Given the description of an element on the screen output the (x, y) to click on. 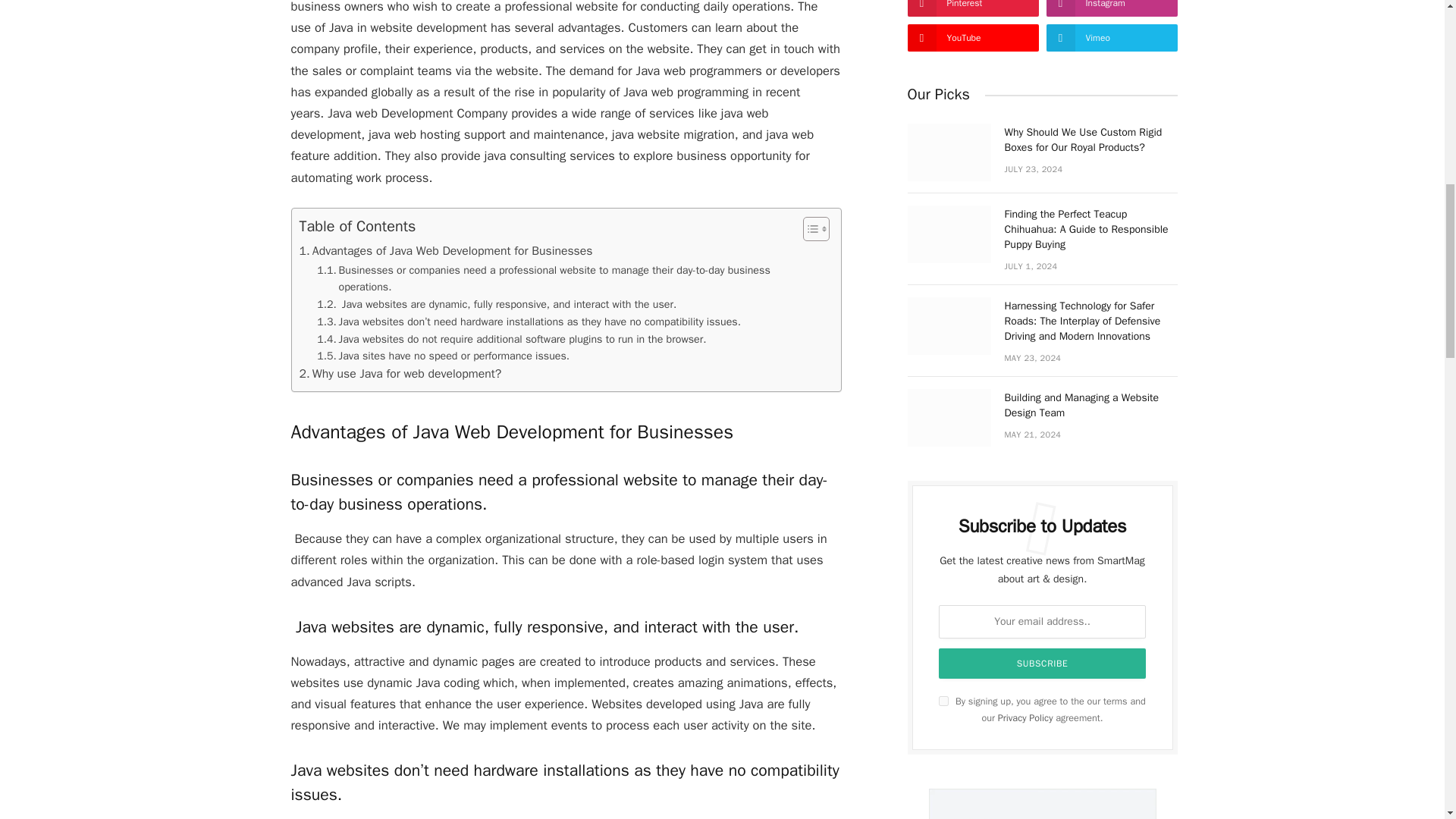
on (944, 700)
Subscribe (1043, 663)
